Given the description of an element on the screen output the (x, y) to click on. 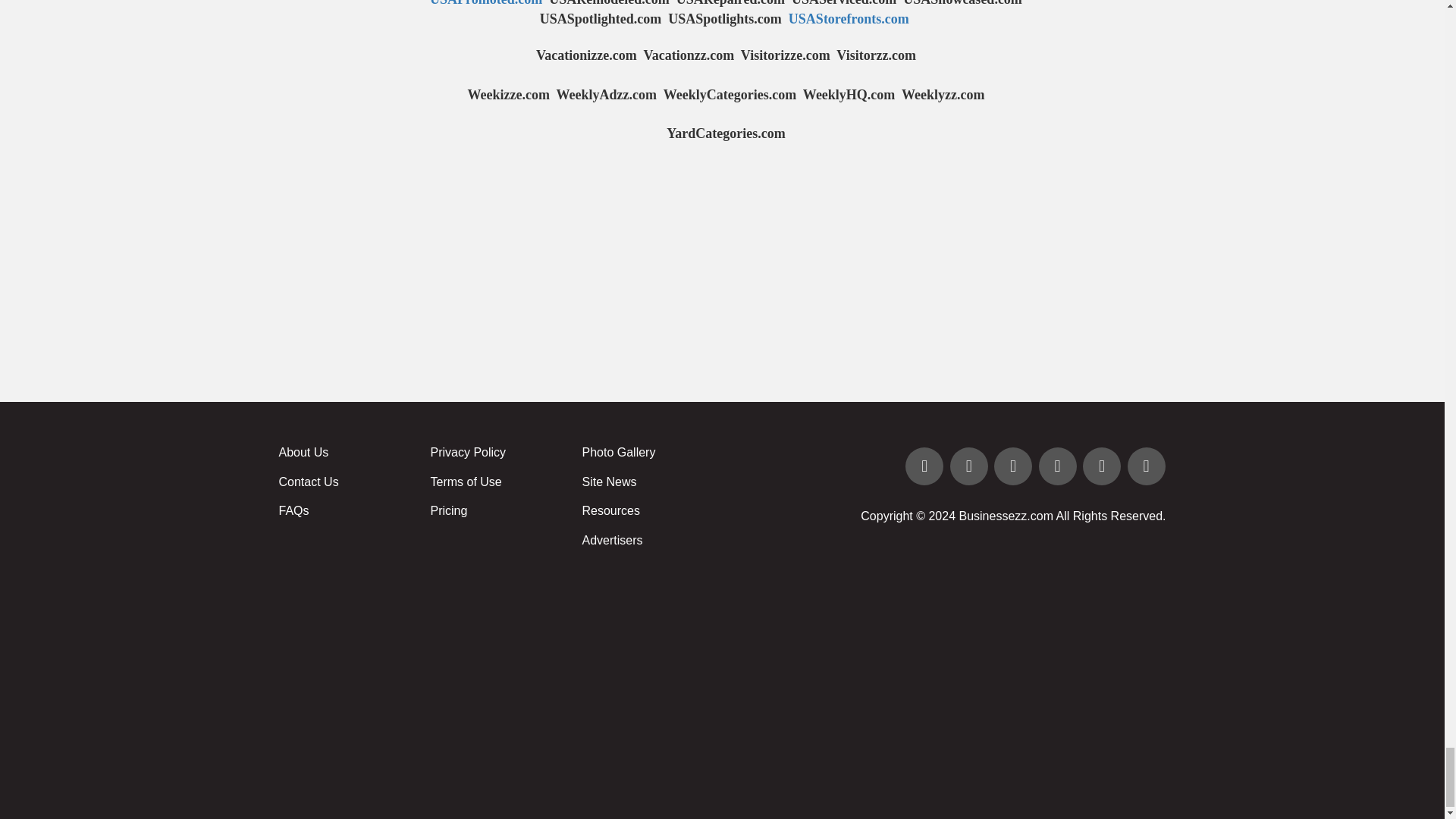
Follow Us on Facebook (925, 467)
Follow Us on You Tube (1058, 467)
Follow Us on Twitter (970, 467)
Follow Us on Linked In (1014, 467)
